Given the description of an element on the screen output the (x, y) to click on. 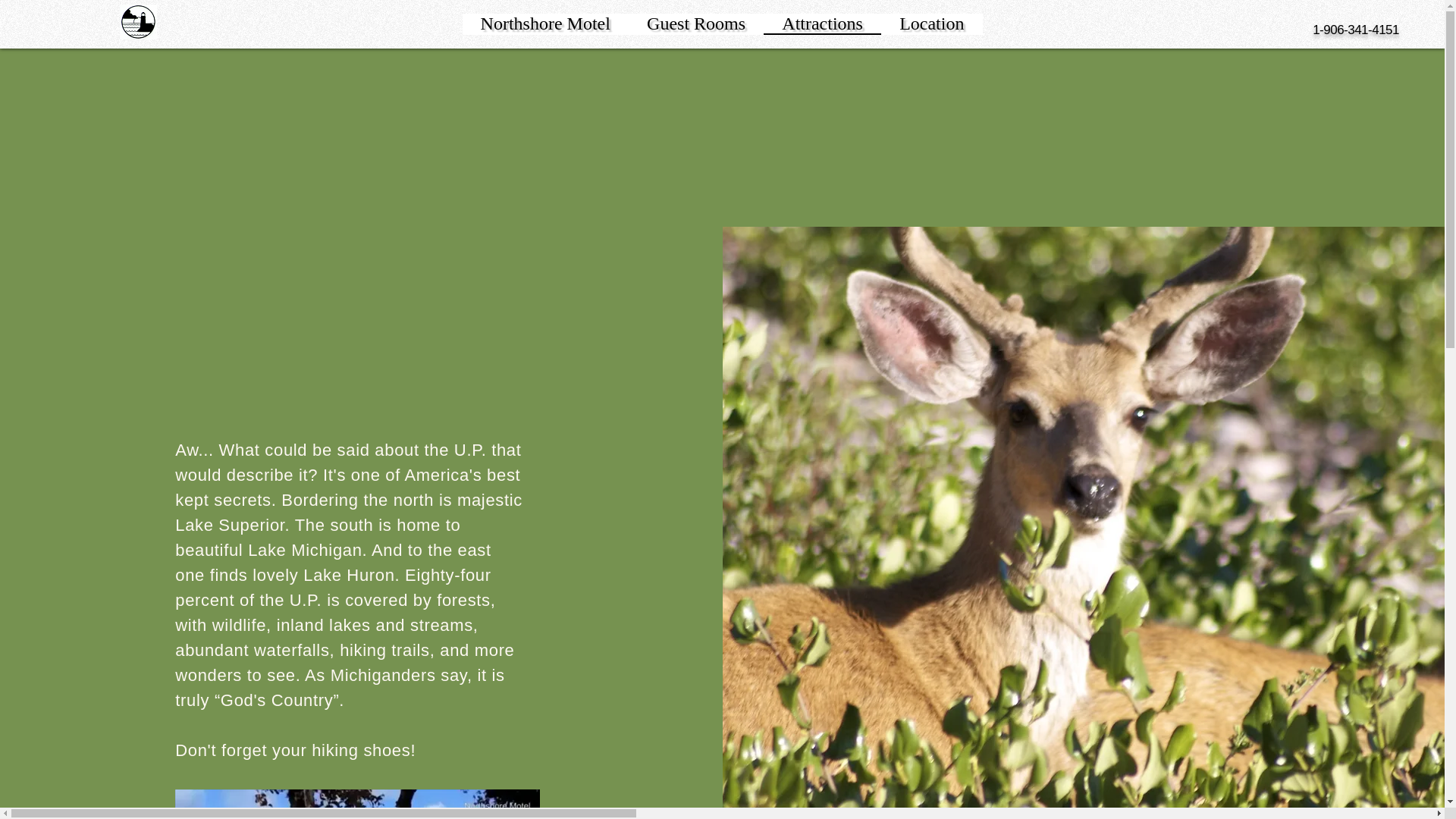
Northshore Motel (545, 24)
Guest Rooms (695, 24)
Attractions (821, 24)
Location (931, 24)
Northshore Motel (531, 22)
1-906-341-4151 (1356, 29)
